Given the description of an element on the screen output the (x, y) to click on. 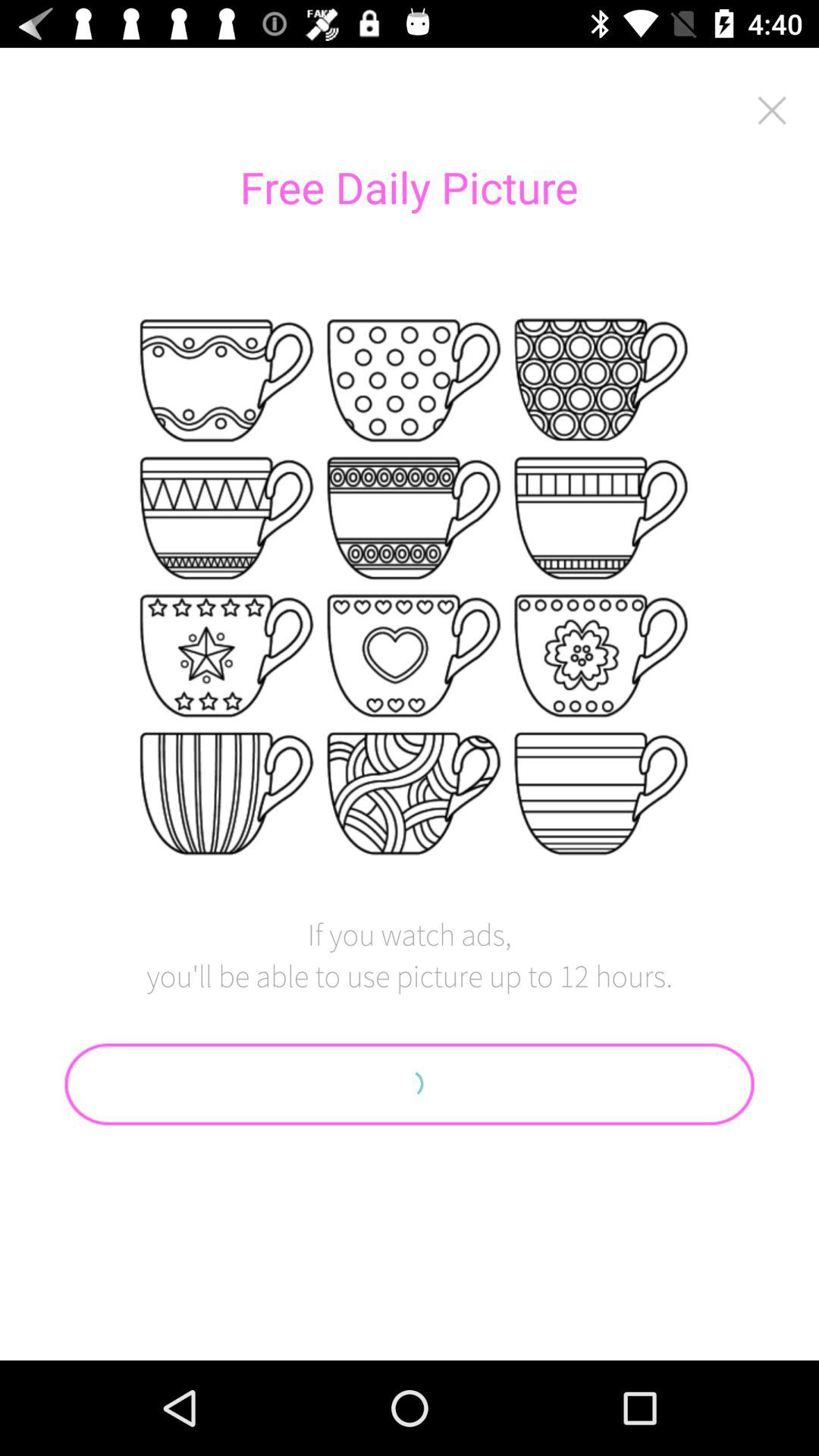
tap icon to the right of the free daily picture (772, 110)
